Given the description of an element on the screen output the (x, y) to click on. 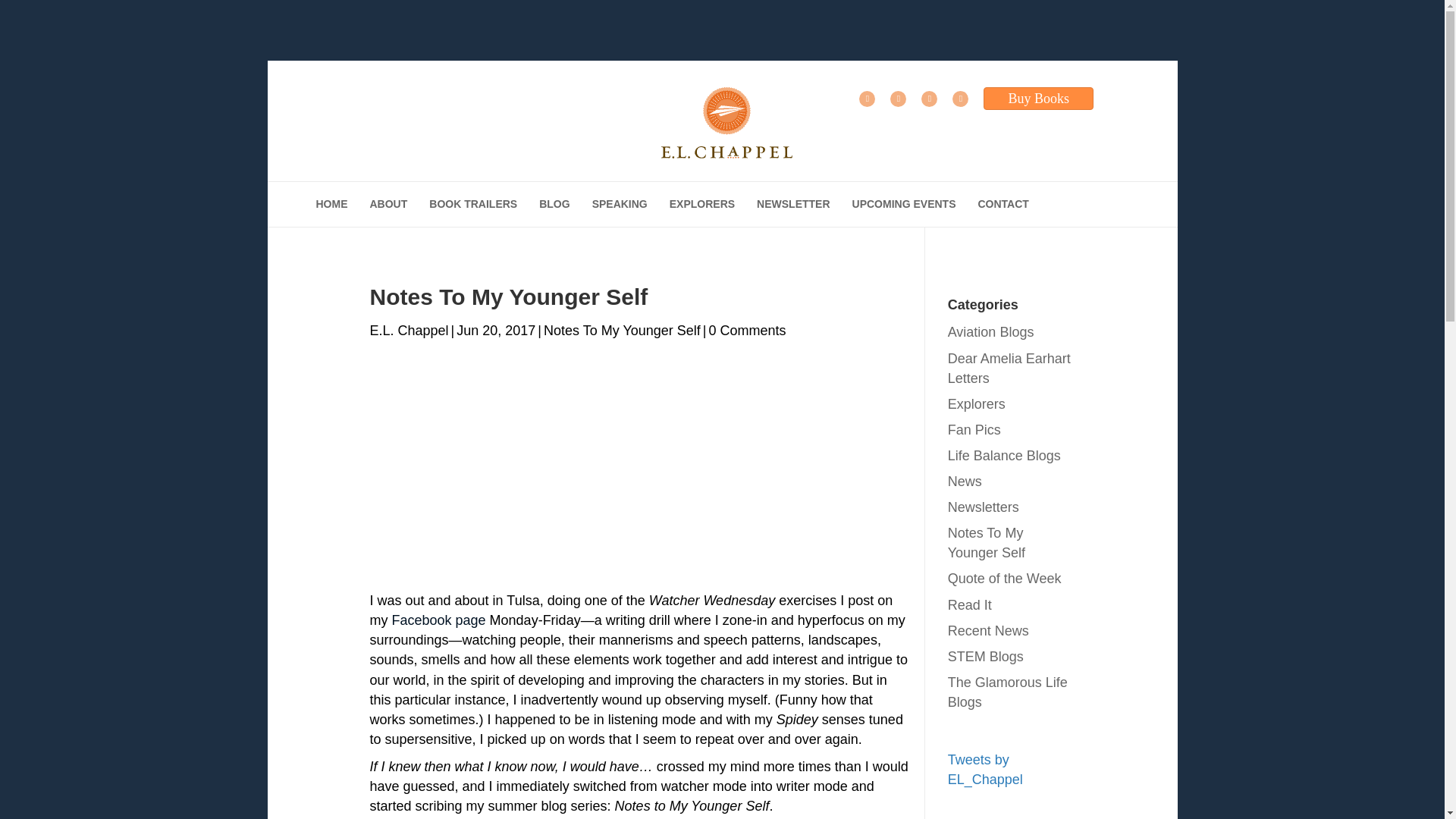
Notes To My Younger Self (621, 330)
Newsletters (983, 507)
NEWSLETTER (792, 203)
ABOUT (389, 203)
Fan Pics (974, 429)
BLOG (553, 203)
UPCOMING EVENTS (903, 203)
EXPLORERS (702, 203)
logo (726, 122)
BOOK TRAILERS (473, 203)
